Given the description of an element on the screen output the (x, y) to click on. 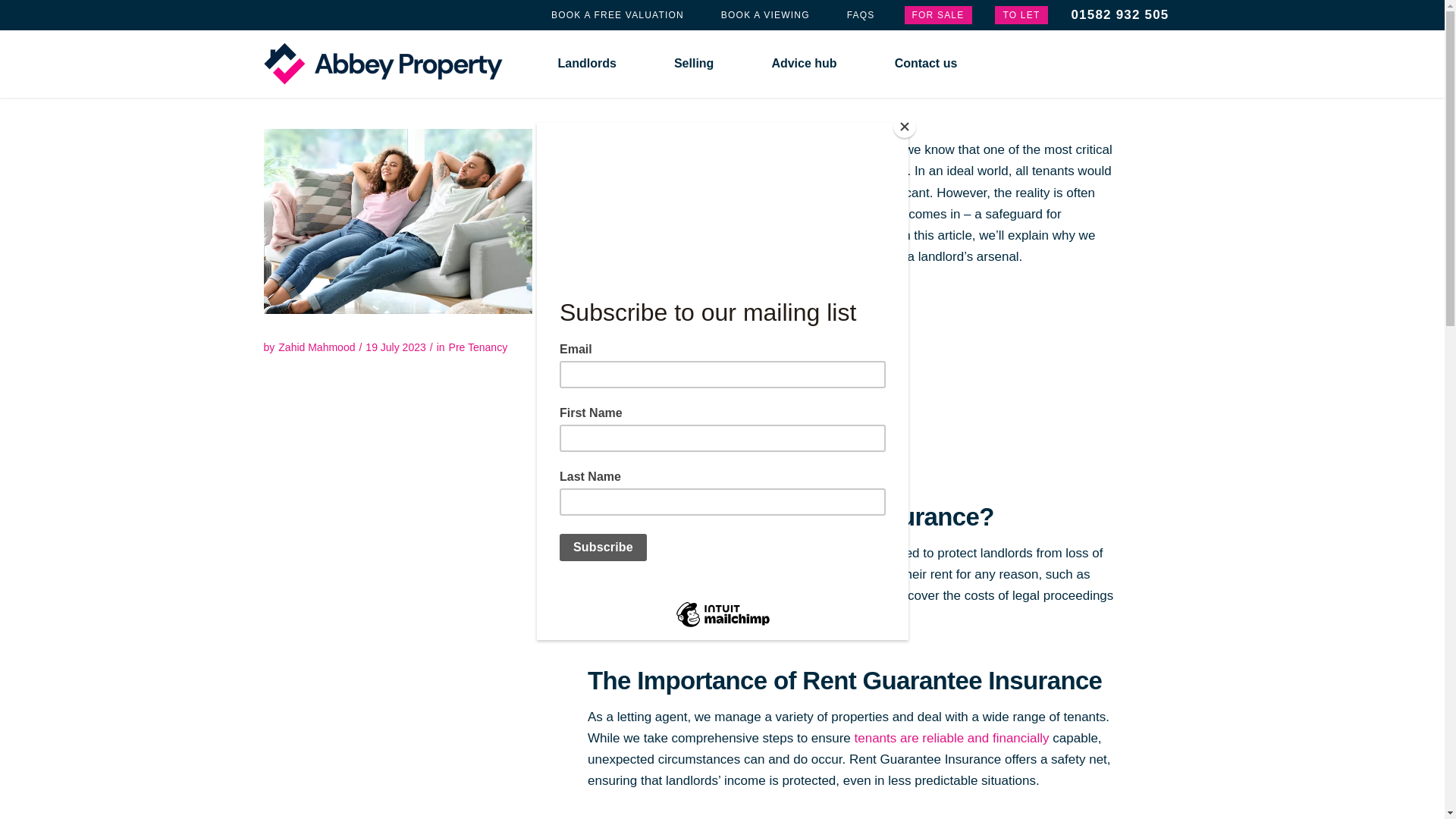
hide (679, 313)
Advice hub (803, 63)
Landlords (587, 63)
01582 932 505 (1119, 15)
Pre Tenancy (478, 346)
Contact us (926, 63)
Our Rental Guarantee (397, 220)
3 Covering Legal Costs (662, 384)
4 Maximising Rental Income (674, 407)
BOOK A VIEWING (764, 14)
